Given the description of an element on the screen output the (x, y) to click on. 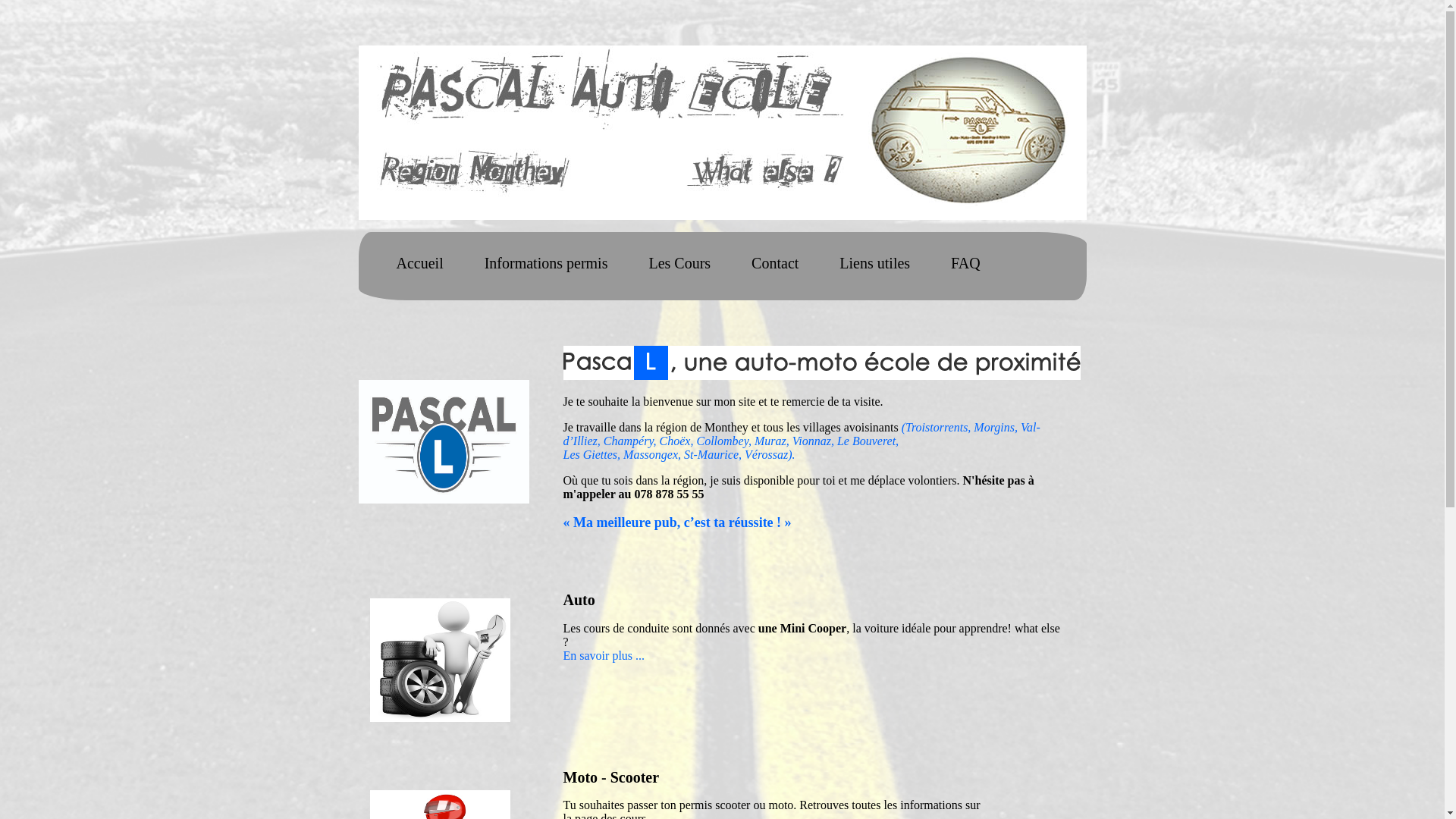
FAQ Element type: text (965, 262)
Accueil Element type: text (418, 262)
Moto - Scooter Element type: text (610, 776)
Informations permis Element type: text (546, 262)
Les Cours Element type: text (679, 262)
Auto Element type: text (578, 599)
Contact Element type: text (774, 262)
En savoir plus ... Element type: text (603, 655)
Liens utiles Element type: text (874, 262)
